Given the description of an element on the screen output the (x, y) to click on. 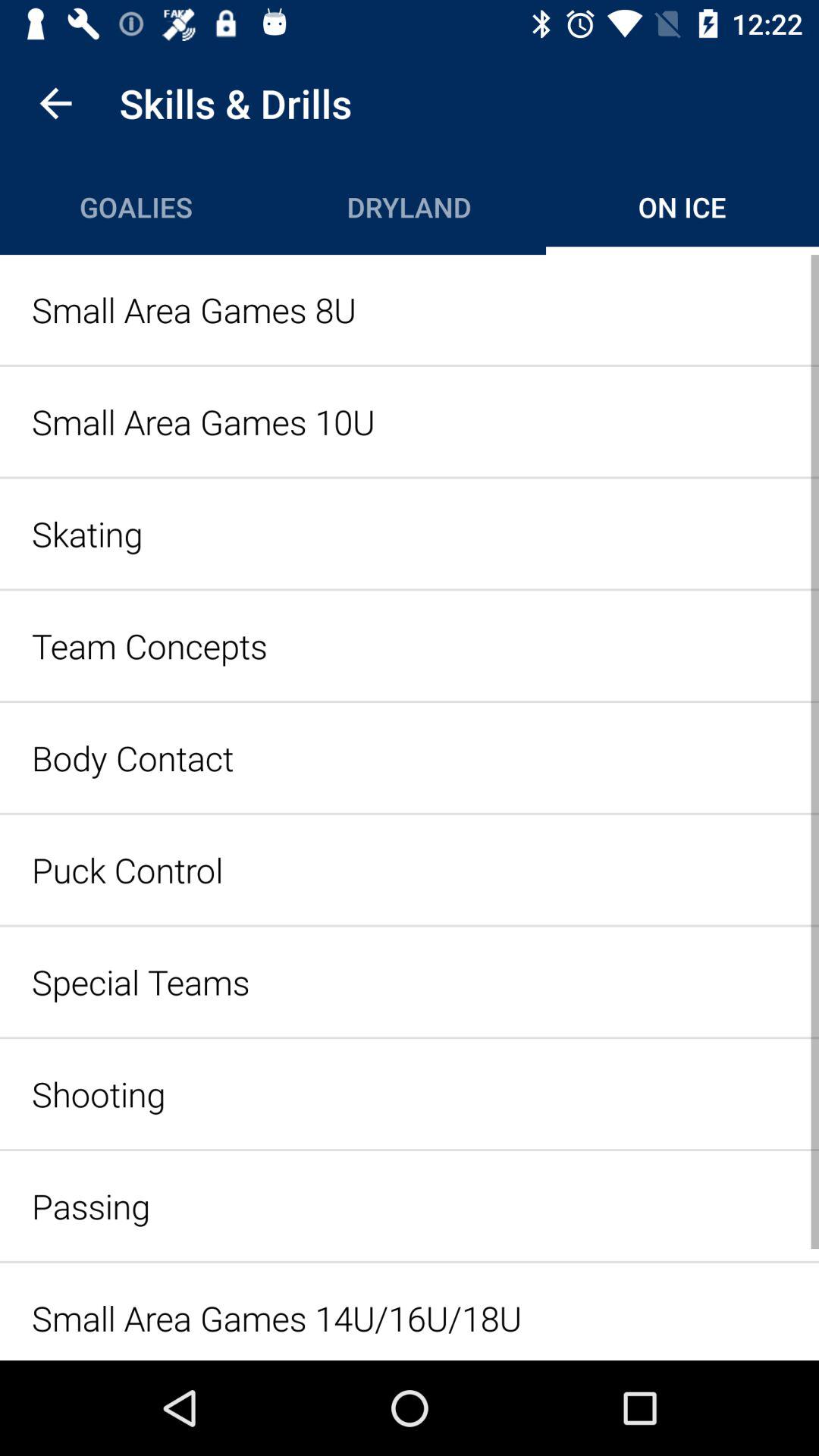
select the item to the left of the skills & drills icon (55, 103)
